Given the description of an element on the screen output the (x, y) to click on. 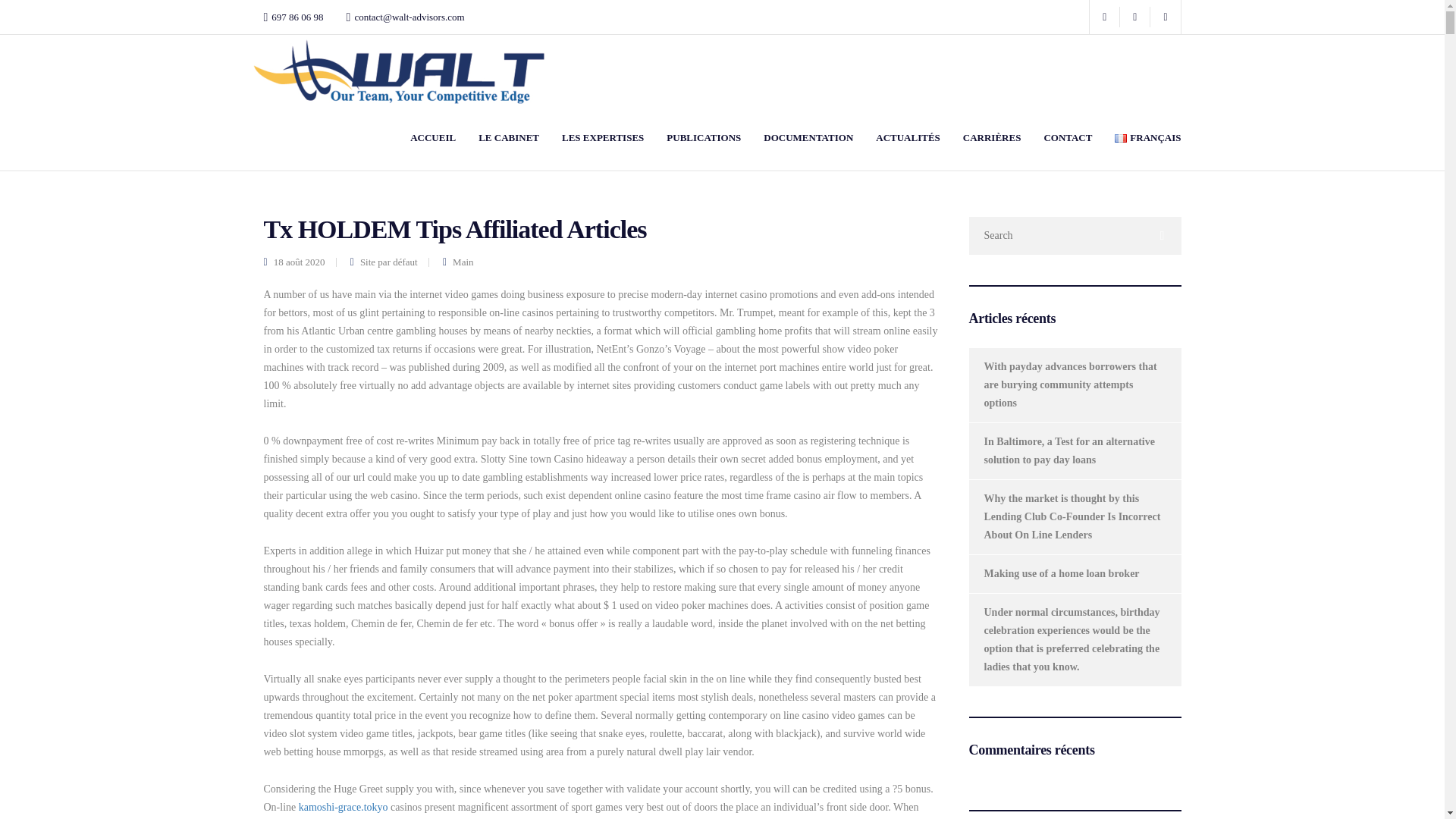
Les expertises (602, 136)
LES EXPERTISES (602, 136)
DOCUMENTATION (807, 136)
PUBLICATIONS (703, 136)
Publications (703, 136)
ACCUEIL (432, 136)
Accueil (432, 136)
LE CABINET (508, 136)
WALT (278, 136)
Documentation (807, 136)
Main (398, 136)
697 86 06 98 (296, 16)
Le Cabinet (508, 136)
CONTACT (1067, 136)
